Given the description of an element on the screen output the (x, y) to click on. 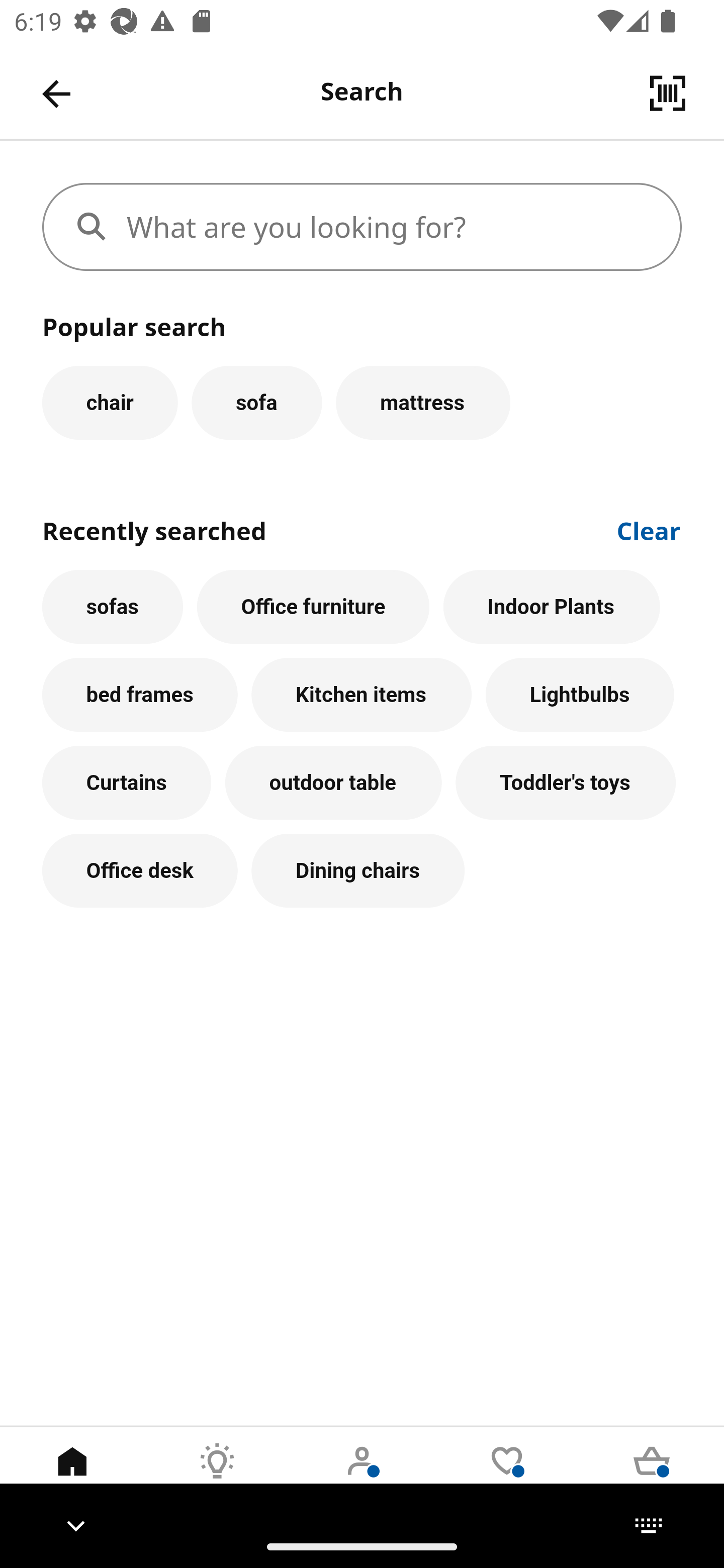
chair (109, 402)
sofa (256, 402)
mattress (423, 402)
Clear (649, 528)
sofas (112, 606)
Office furniture (312, 606)
Indoor Plants (551, 606)
bed frames (139, 695)
Kitchen items (361, 695)
Lightbulbs (579, 695)
Curtains (126, 783)
outdoor table (333, 783)
Toddler's toys (565, 783)
Office desk (139, 870)
Dining chairs (357, 870)
Home
Tab 1 of 5 (72, 1476)
Inspirations
Tab 2 of 5 (216, 1476)
User
Tab 3 of 5 (361, 1476)
Wishlist
Tab 4 of 5 (506, 1476)
Cart
Tab 5 of 5 (651, 1476)
